Given the description of an element on the screen output the (x, y) to click on. 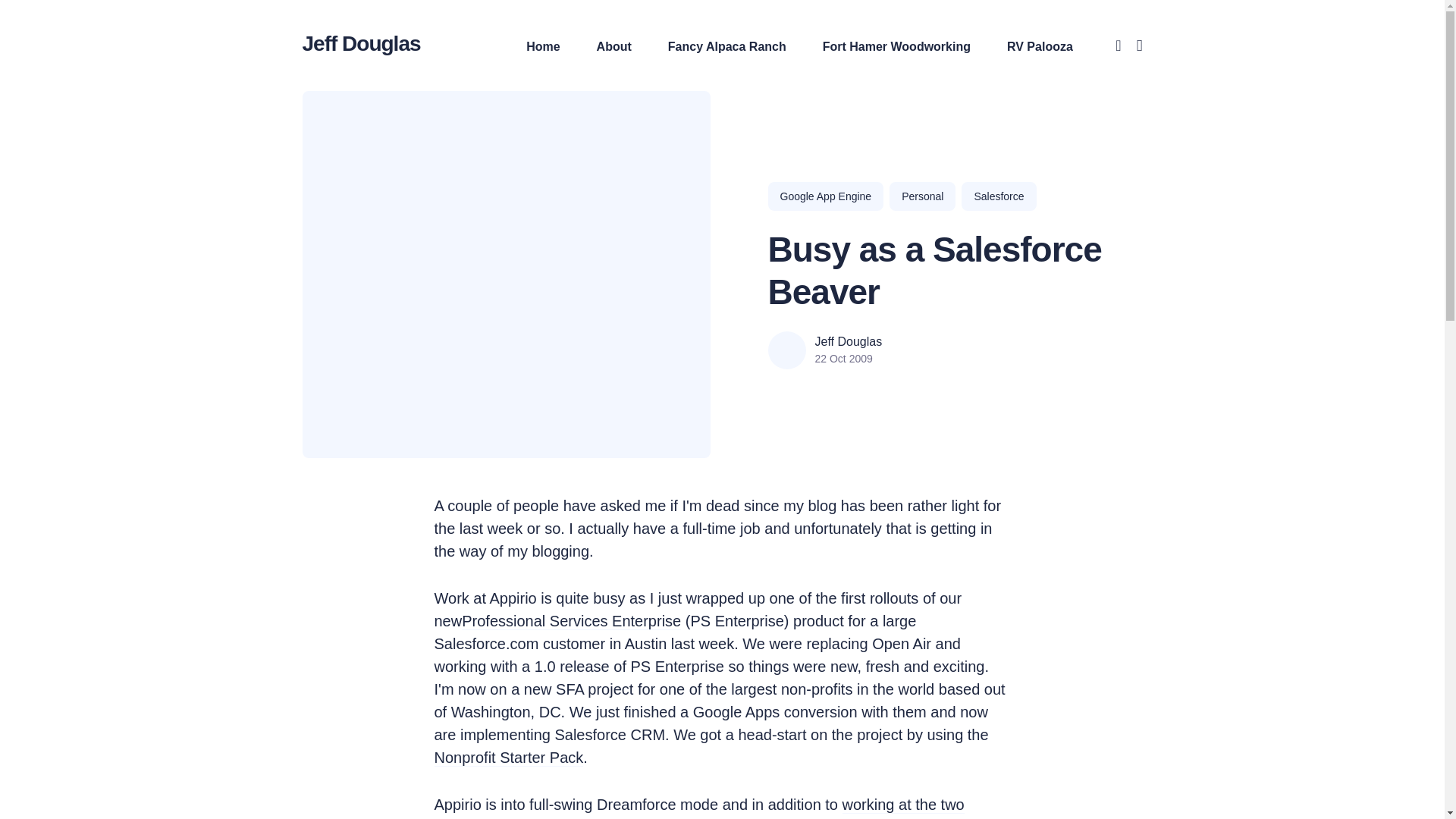
Salesforce (997, 195)
working at the two hands-on training sessions (698, 807)
Professional Services Enterprise (571, 623)
Nonprofit Starter Pack (508, 759)
Home (542, 46)
Jeff Douglas (847, 341)
Personal (922, 195)
About (613, 46)
RV Palooza (1040, 46)
Google App Engine (825, 195)
